Given the description of an element on the screen output the (x, y) to click on. 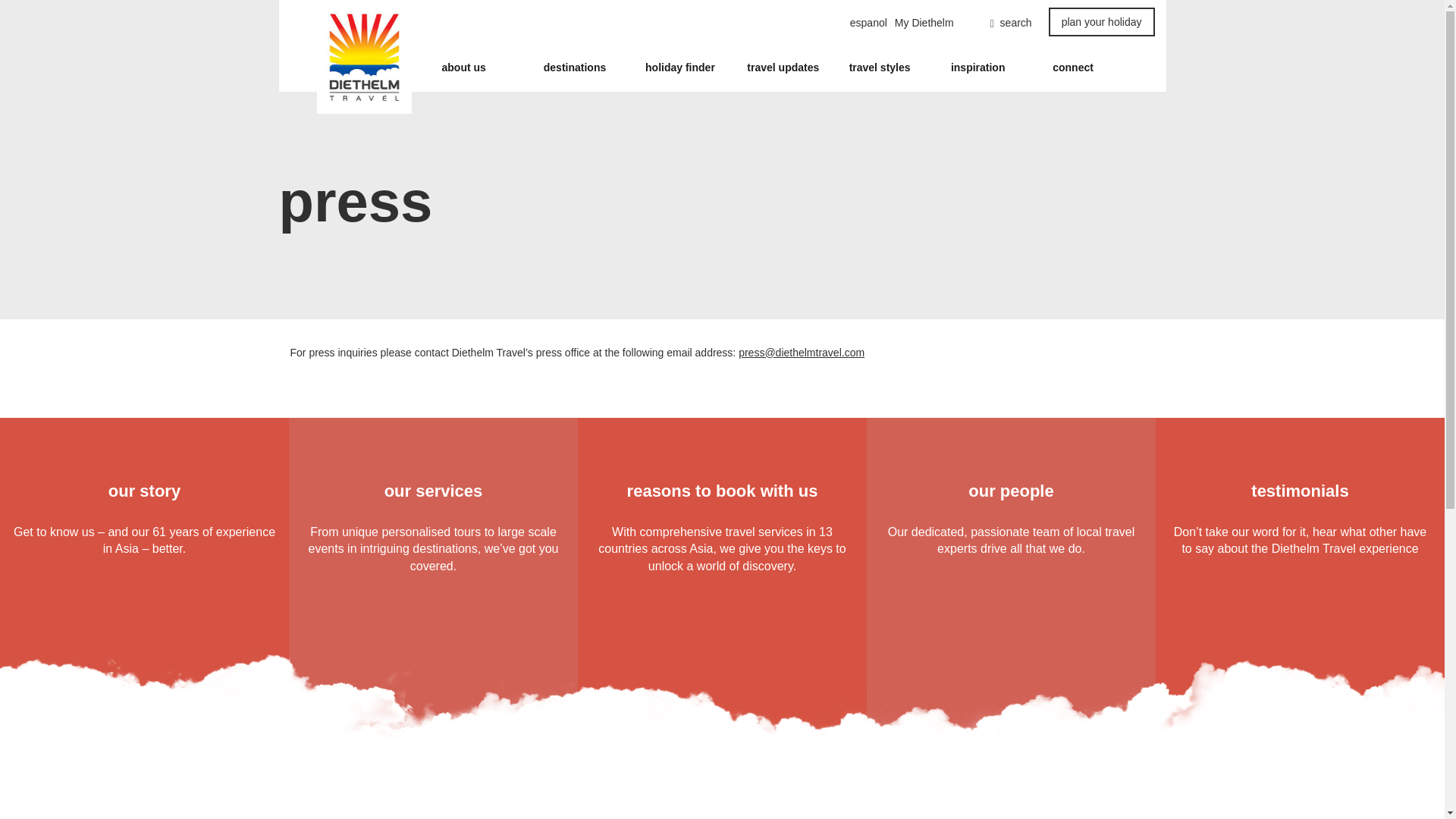
espanol (868, 22)
My Diethelm (924, 22)
plan your holiday (1101, 21)
about us (462, 66)
  search (995, 22)
destinations (574, 66)
espanol (868, 22)
holiday finder (679, 66)
